Given the description of an element on the screen output the (x, y) to click on. 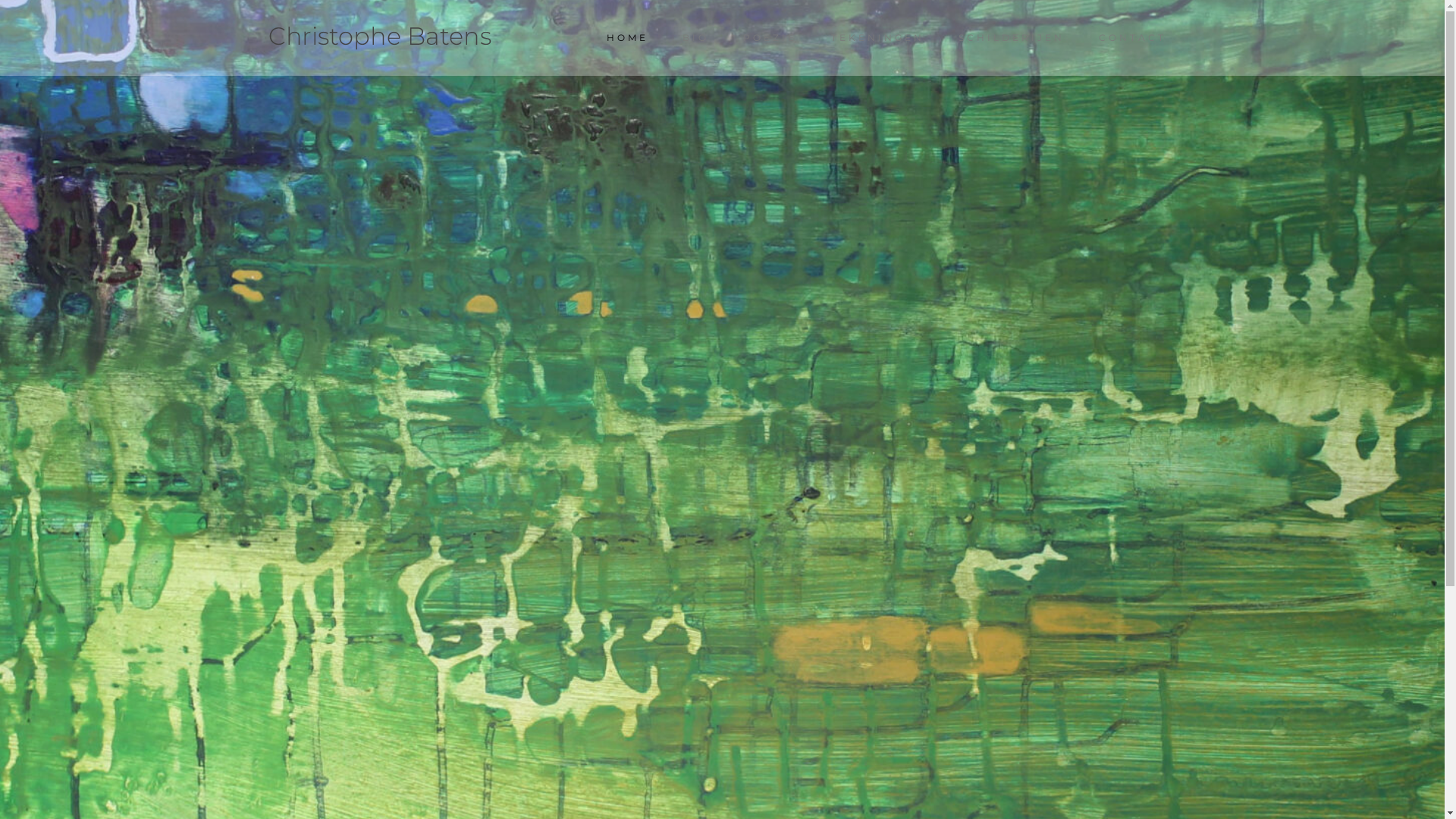
HOME Element type: text (626, 37)
CONTACT Element type: text (1132, 37)
BIO Element type: text (694, 37)
SCHILDERIJEN Element type: text (1010, 37)
TEKENINGEN Element type: text (877, 37)
